Given the description of an element on the screen output the (x, y) to click on. 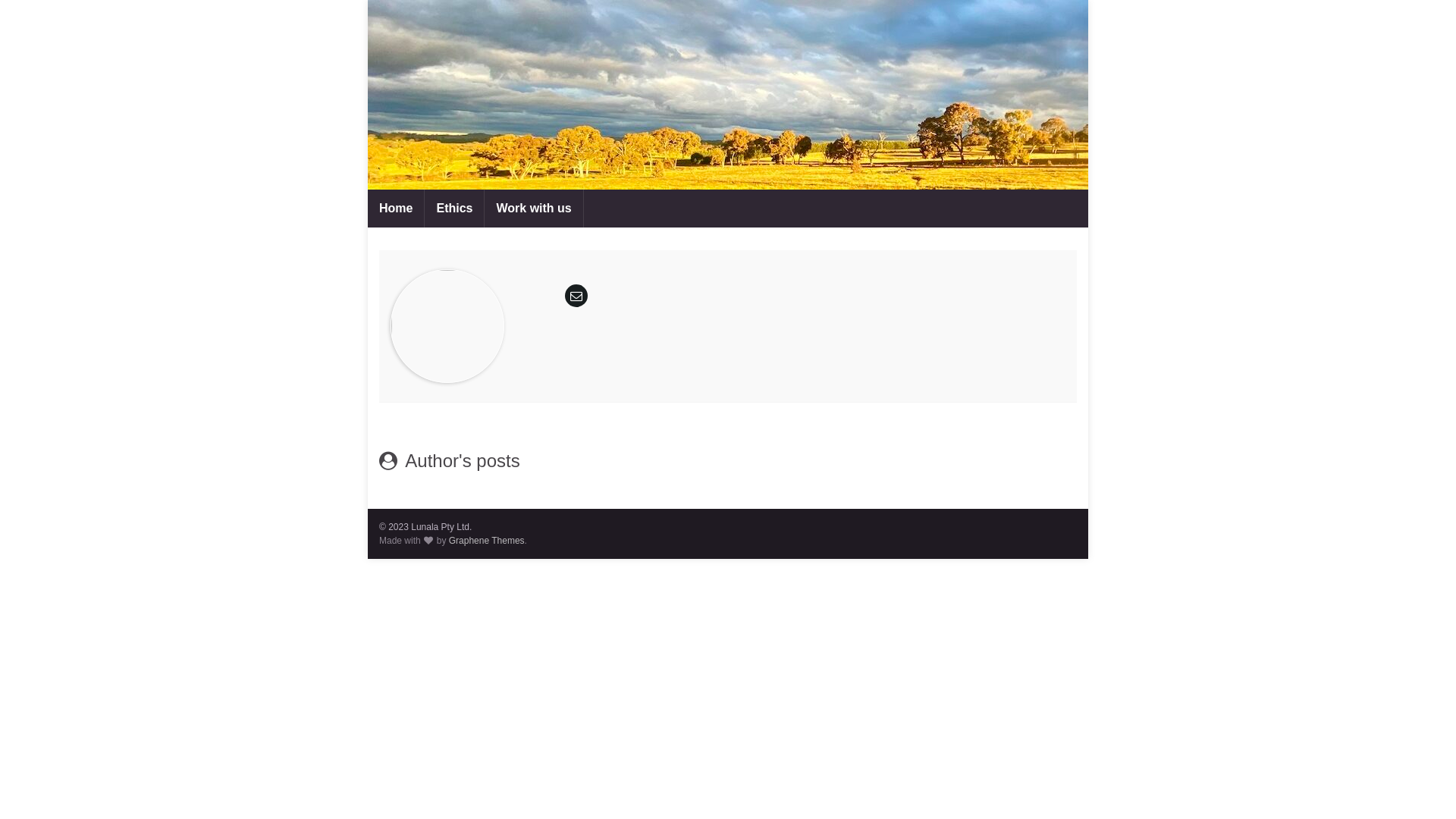
Work with us Element type: text (533, 208)
Ethics Element type: text (453, 208)
cropped-IMG_1705.jpg Element type: hover (727, 94)
Home Element type: text (395, 208)
  Element type: text (727, 94)
Graphene Themes Element type: text (486, 540)
